Given the description of an element on the screen output the (x, y) to click on. 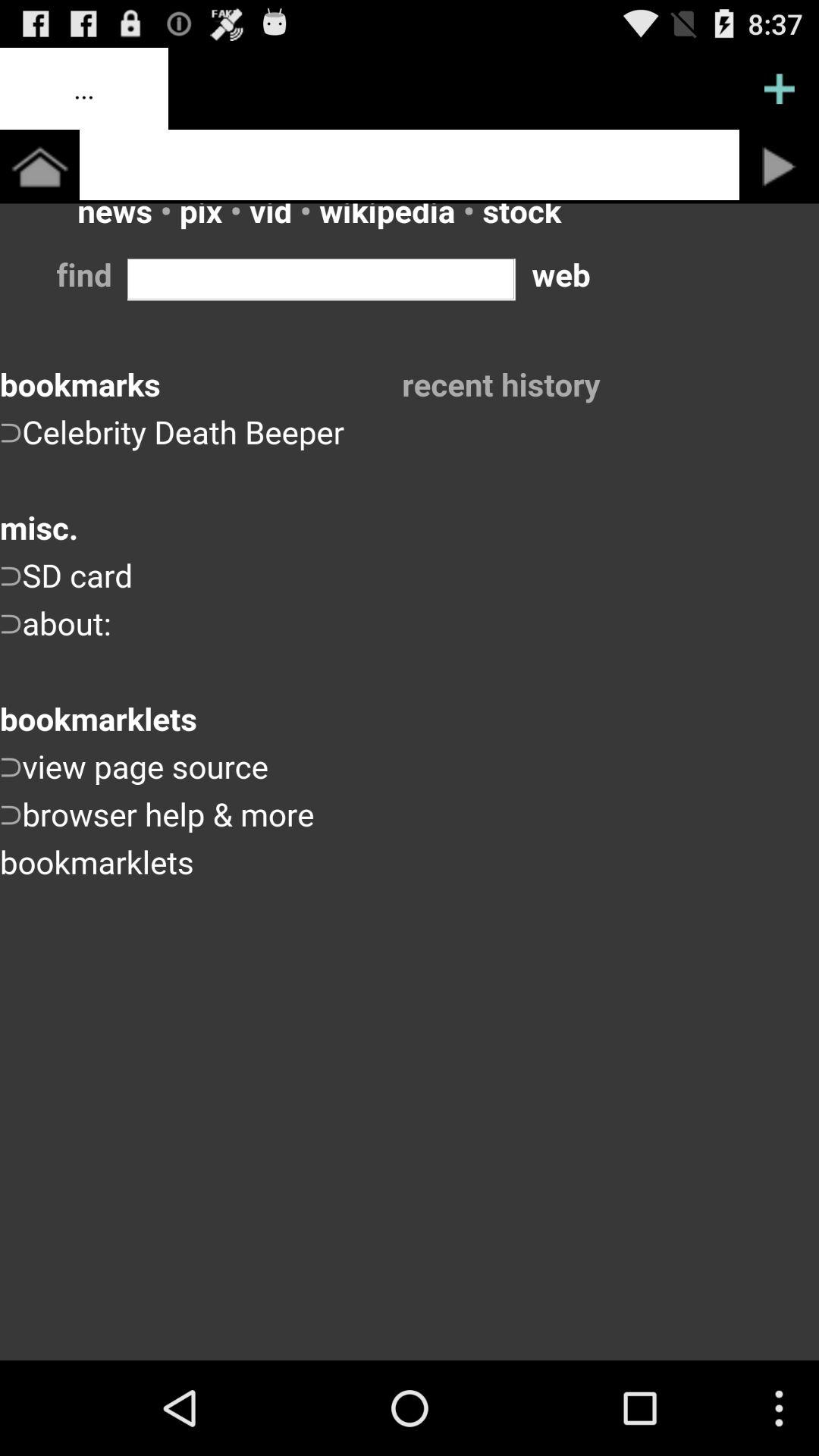
start search (779, 166)
